Given the description of an element on the screen output the (x, y) to click on. 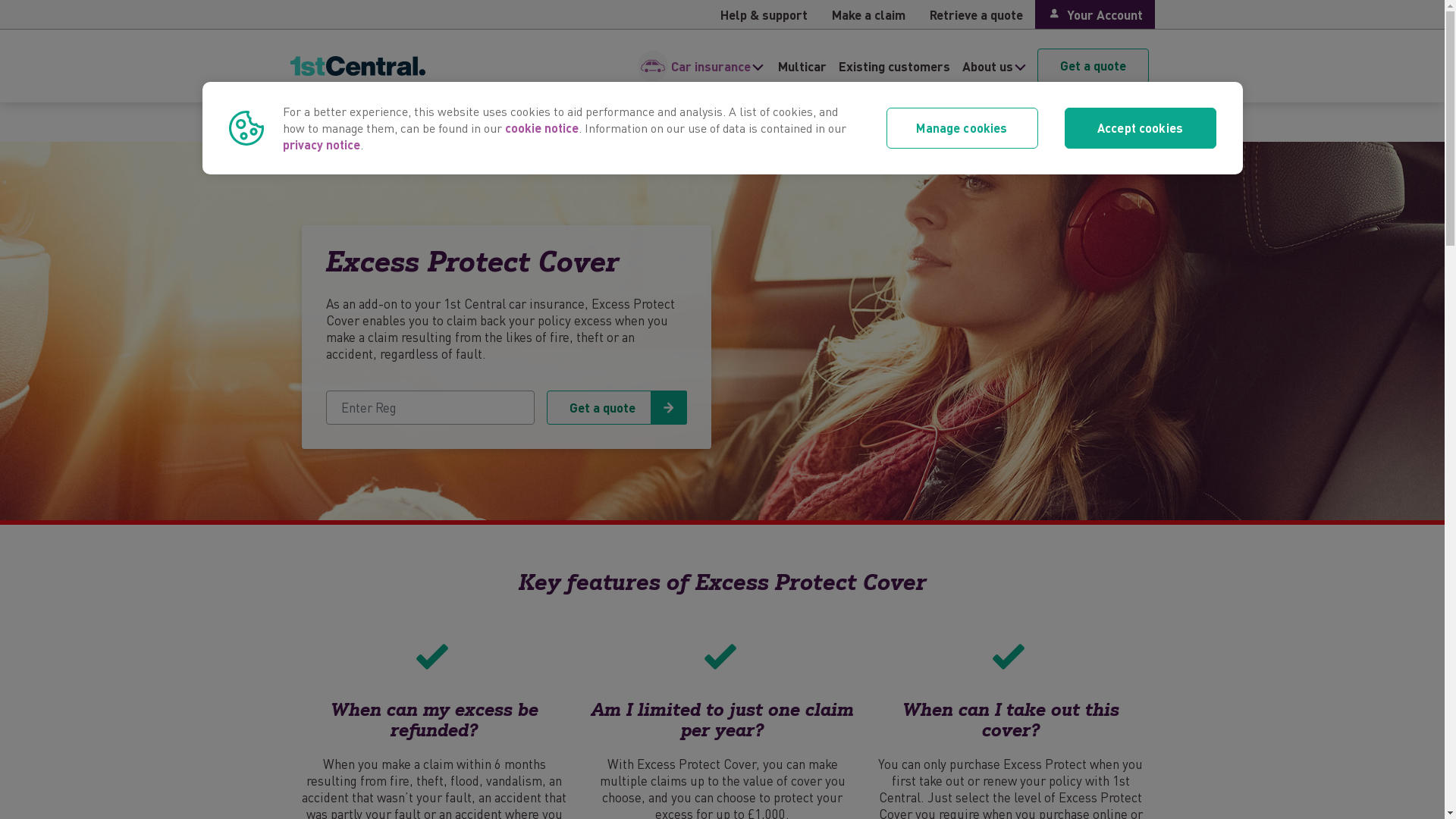
About us Element type: text (986, 65)
Retrieve a quote Element type: text (976, 14)
Multicar Element type: text (802, 65)
Accept cookies Element type: text (1140, 127)
Car insurance Element type: text (341, 121)
Existing customers Element type: text (894, 65)
Your Account Element type: text (1094, 14)
Make a claim Element type: text (868, 14)
Optional Extras Element type: text (436, 121)
Help & support Element type: text (763, 14)
Get a quote Element type: text (1092, 65)
Car insurance Element type: text (710, 65)
Manage cookies Element type: text (961, 127)
Get a quote Element type: text (616, 407)
